Given the description of an element on the screen output the (x, y) to click on. 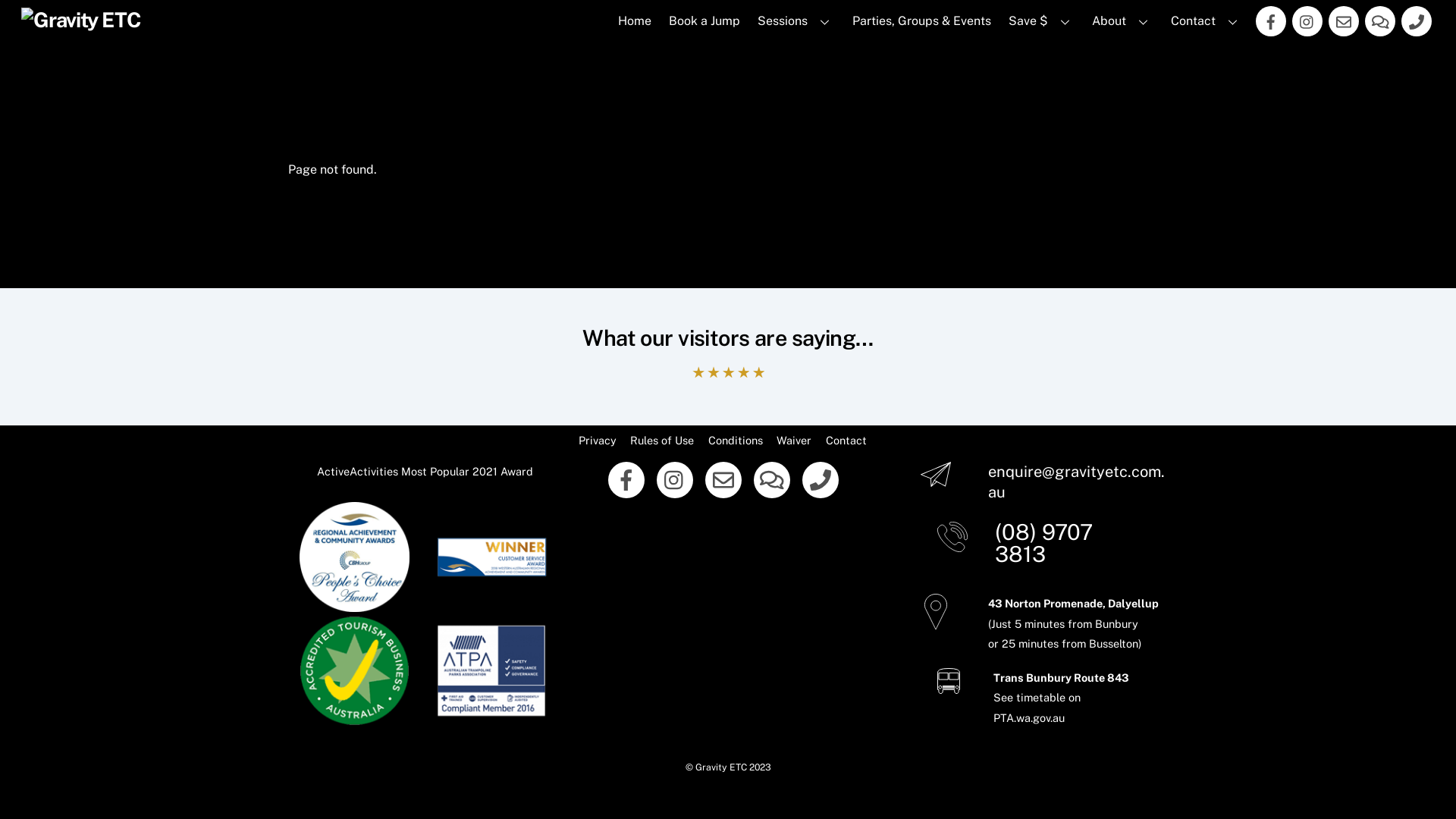
Contact Element type: text (1206, 20)
Waiver Element type: text (793, 439)
Book a Jump Element type: text (703, 20)
Gravity ETC Element type: text (720, 766)
ActiveActivities Most Popular 2021 Award Element type: text (424, 470)
Contact Element type: text (845, 439)
Parties, Groups & Events Element type: text (920, 20)
Gravity White Logo Element type: hover (81, 19)
Conditions Element type: text (735, 439)
Rules of Use Element type: text (661, 439)
About Element type: text (1123, 20)
Privacy Element type: text (597, 439)
Save $ Element type: text (1041, 20)
Sessions Element type: text (795, 20)
Home Element type: text (634, 20)
Gravity ETC Element type: hover (81, 19)
